Given the description of an element on the screen output the (x, y) to click on. 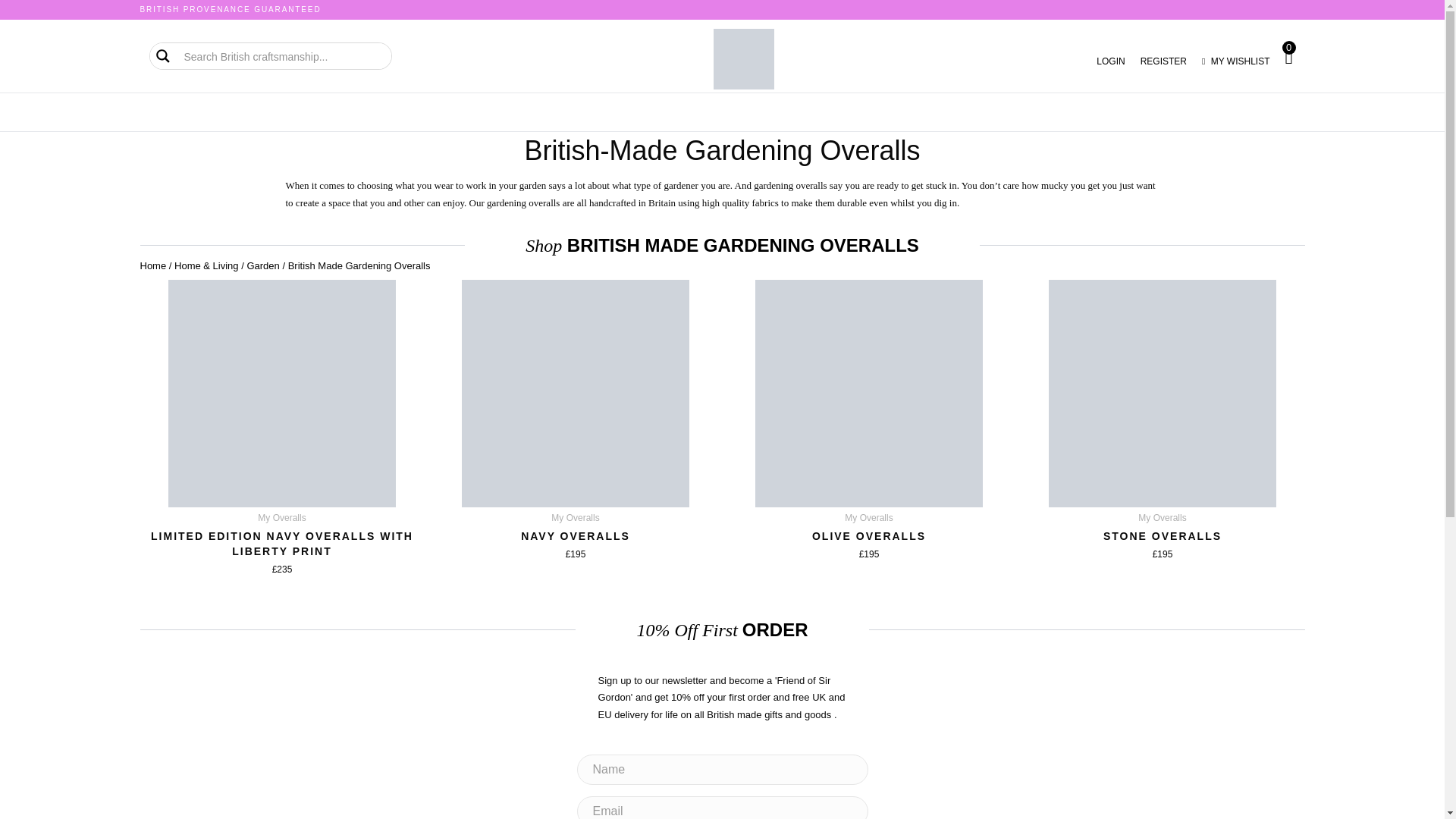
MY WISHLIST (1235, 61)
Home (152, 265)
My Overalls (868, 517)
My Overalls (281, 517)
My Overalls (1162, 517)
My Overalls (575, 517)
LOGIN (1110, 61)
Garden (262, 265)
REGISTER (1163, 61)
